Given the description of an element on the screen output the (x, y) to click on. 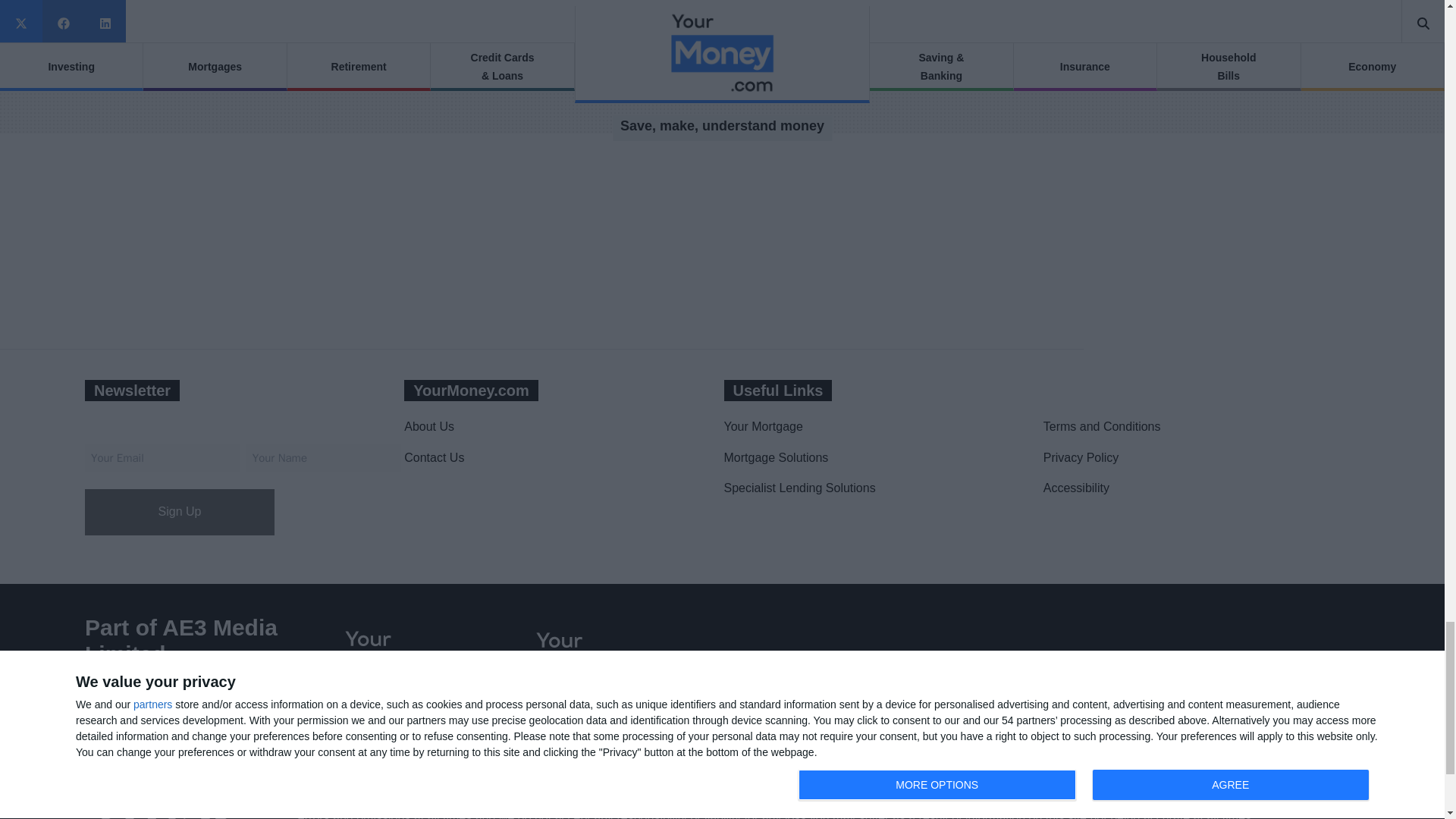
Sign Up (179, 511)
